Given the description of an element on the screen output the (x, y) to click on. 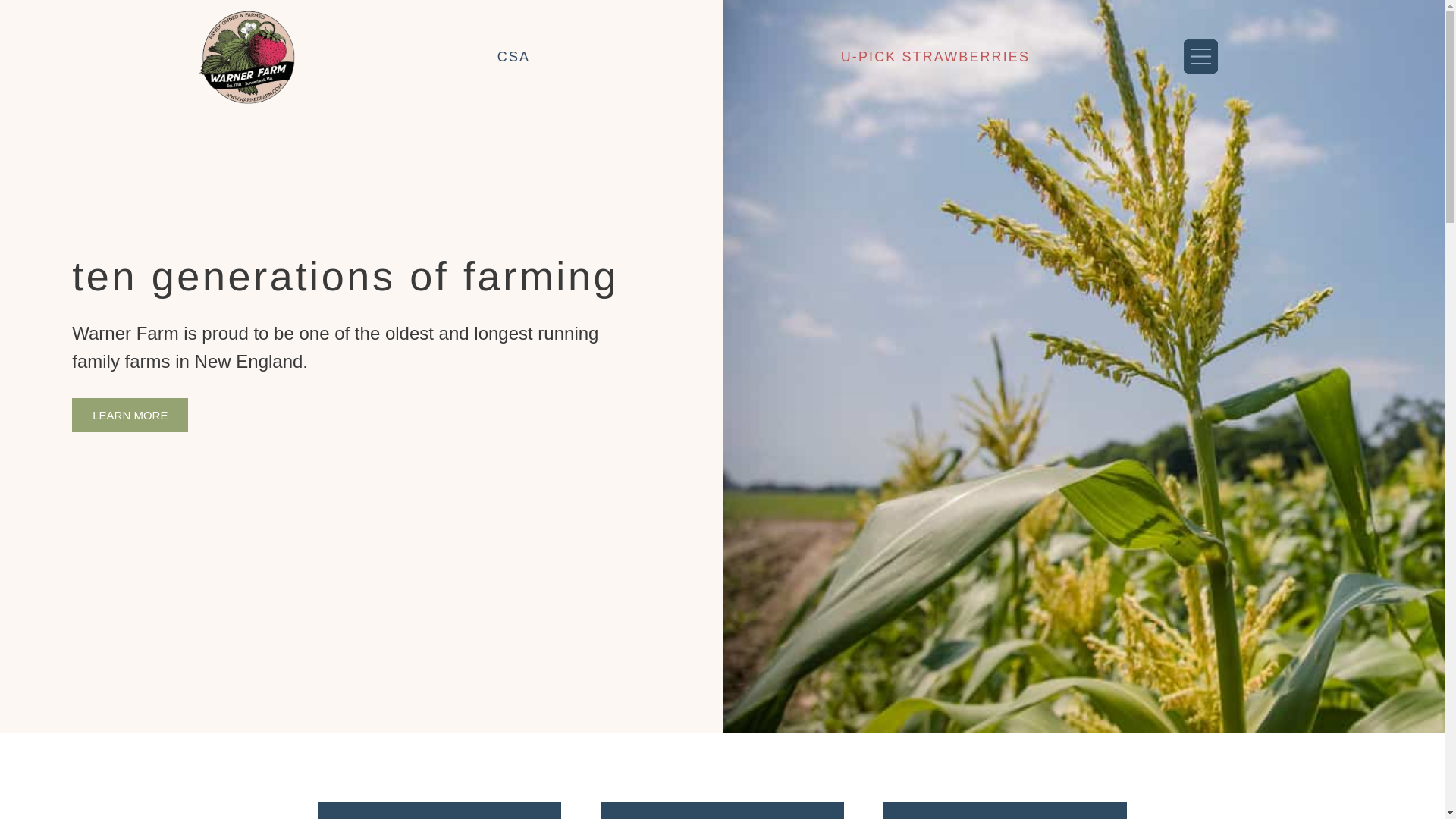
LEARN MORE (129, 415)
CSA (513, 56)
U-PICK STRAWBERRIES (935, 56)
